Given the description of an element on the screen output the (x, y) to click on. 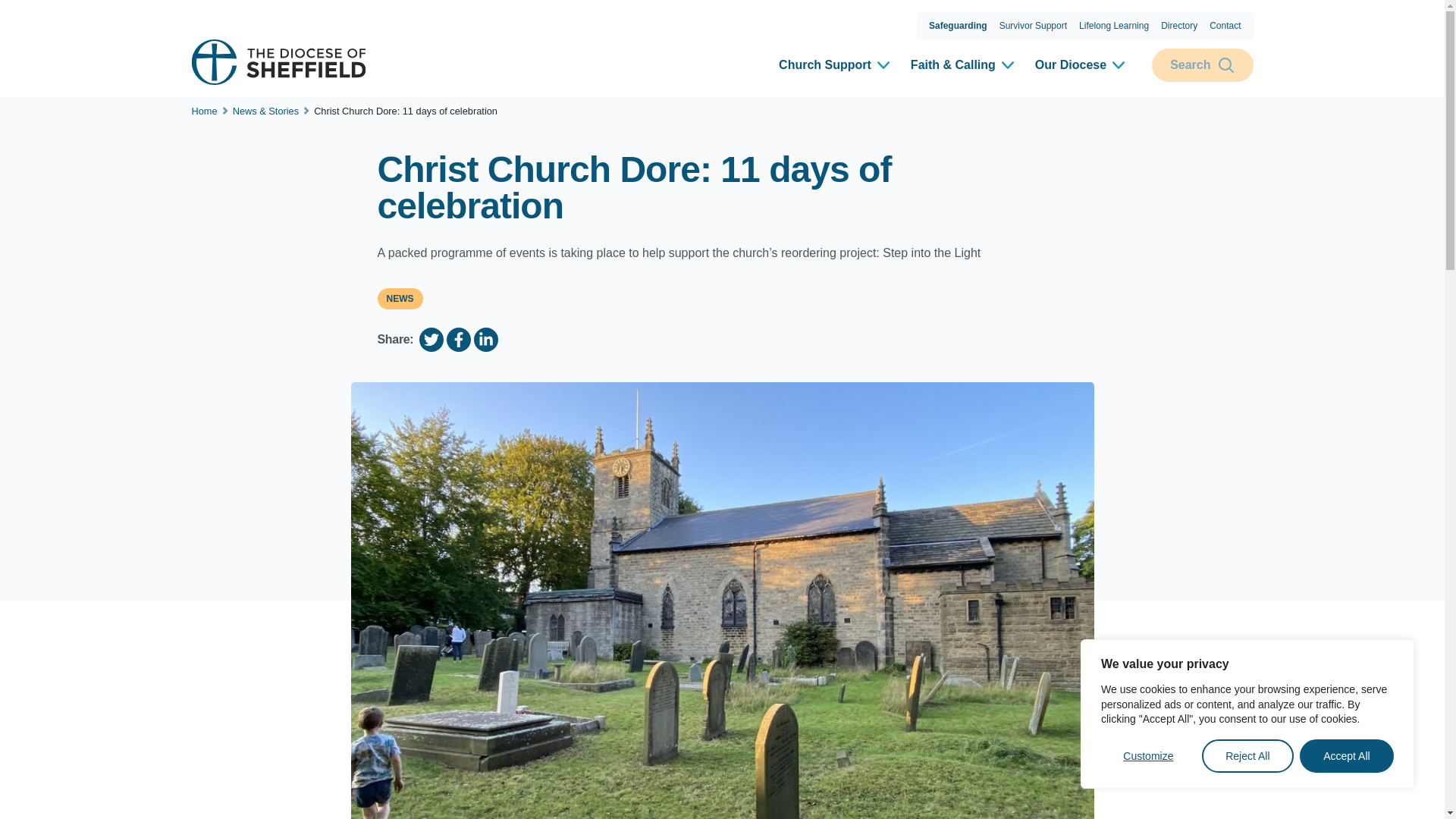
Directory (1179, 25)
Reject All (1248, 756)
Accept All (1346, 756)
Safeguarding (957, 25)
Survivor Support (1032, 25)
Church Support (835, 64)
Share this (458, 339)
Share this (431, 339)
Share this (485, 339)
Contact (1225, 25)
Customize (1147, 756)
Lifelong Learning (1113, 25)
